Given the description of an element on the screen output the (x, y) to click on. 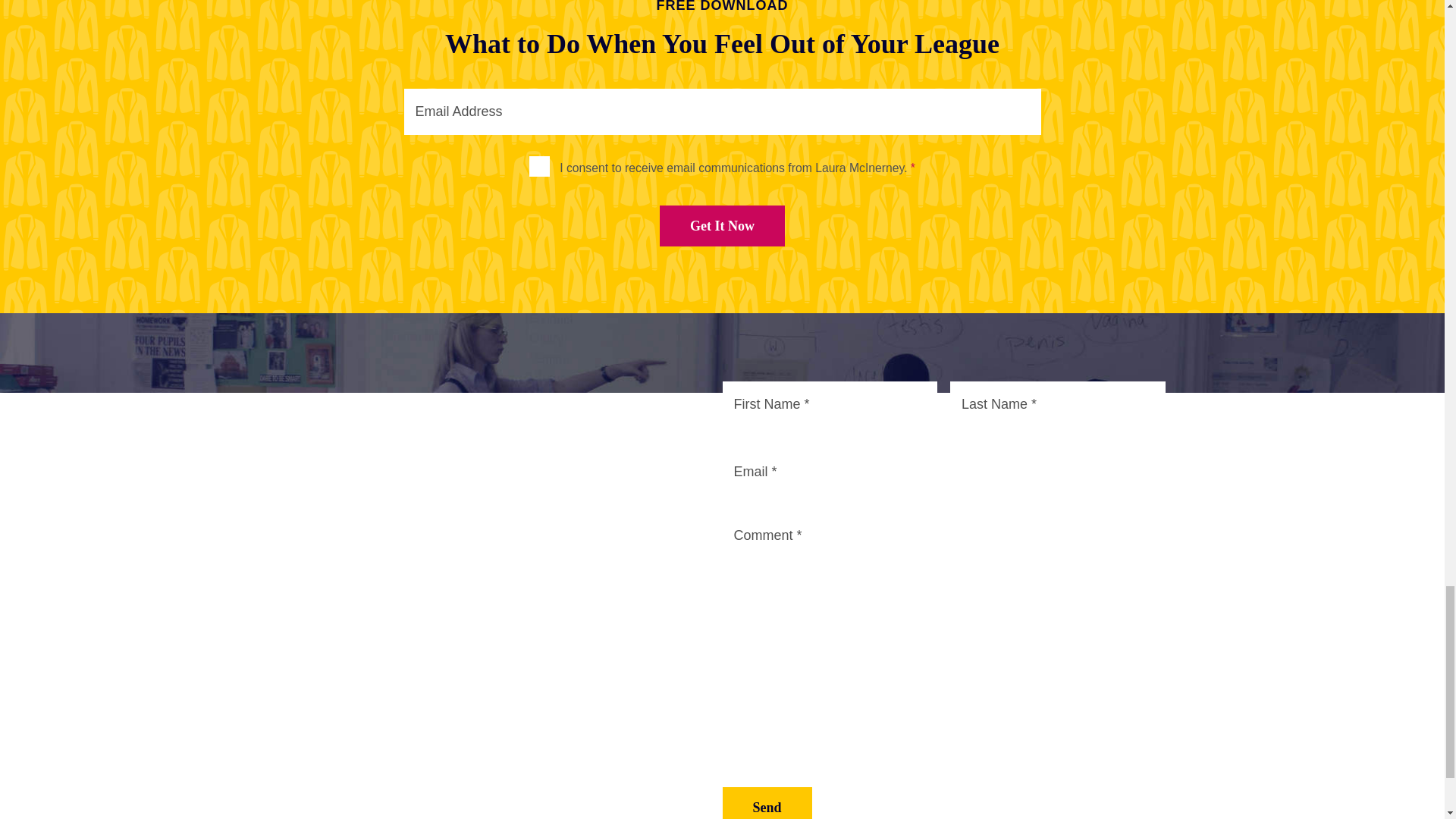
Get It Now (721, 225)
Get It Now (721, 225)
Send (766, 803)
Send (766, 803)
